Given the description of an element on the screen output the (x, y) to click on. 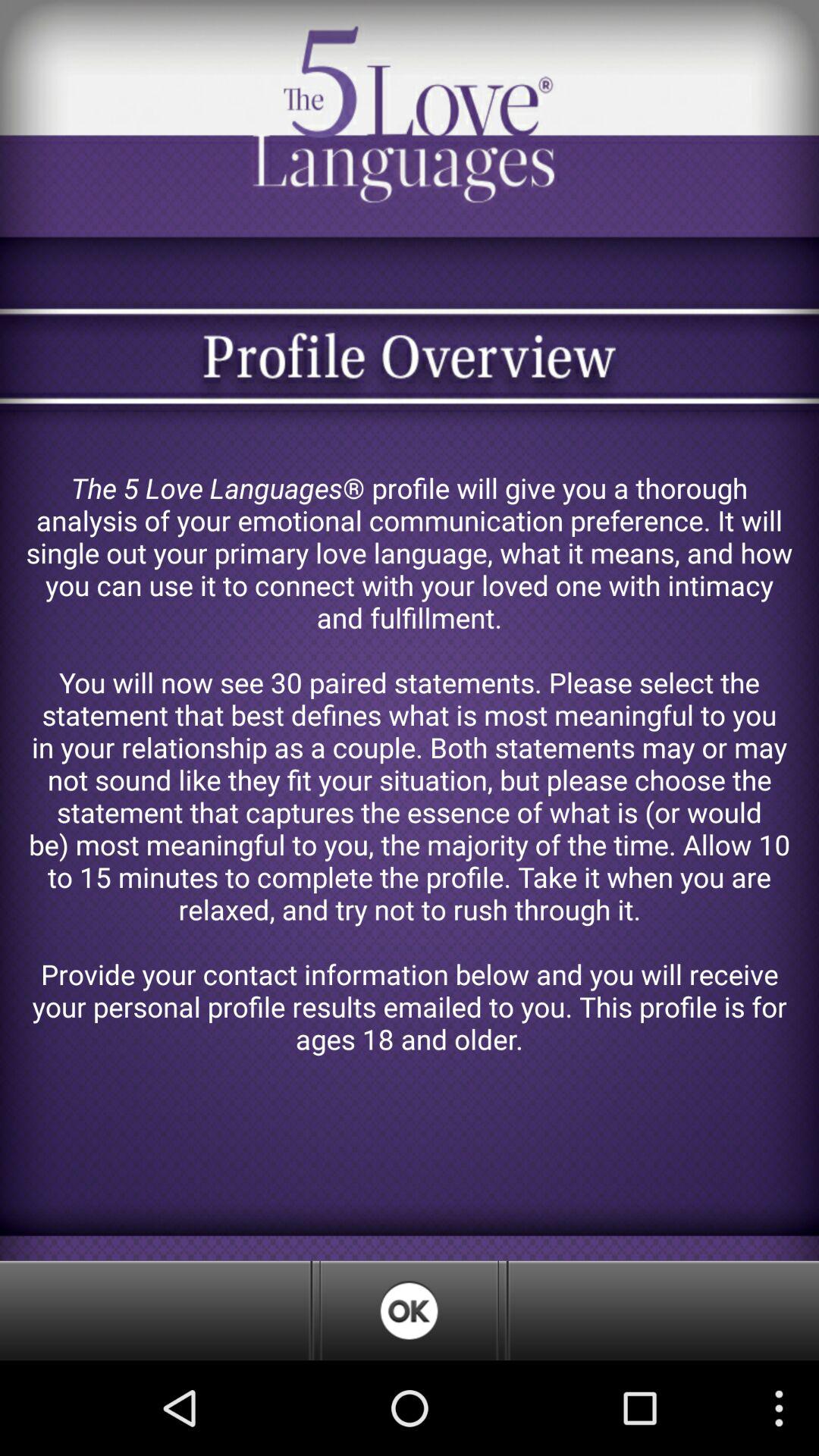
consent of statement (408, 1310)
